Given the description of an element on the screen output the (x, y) to click on. 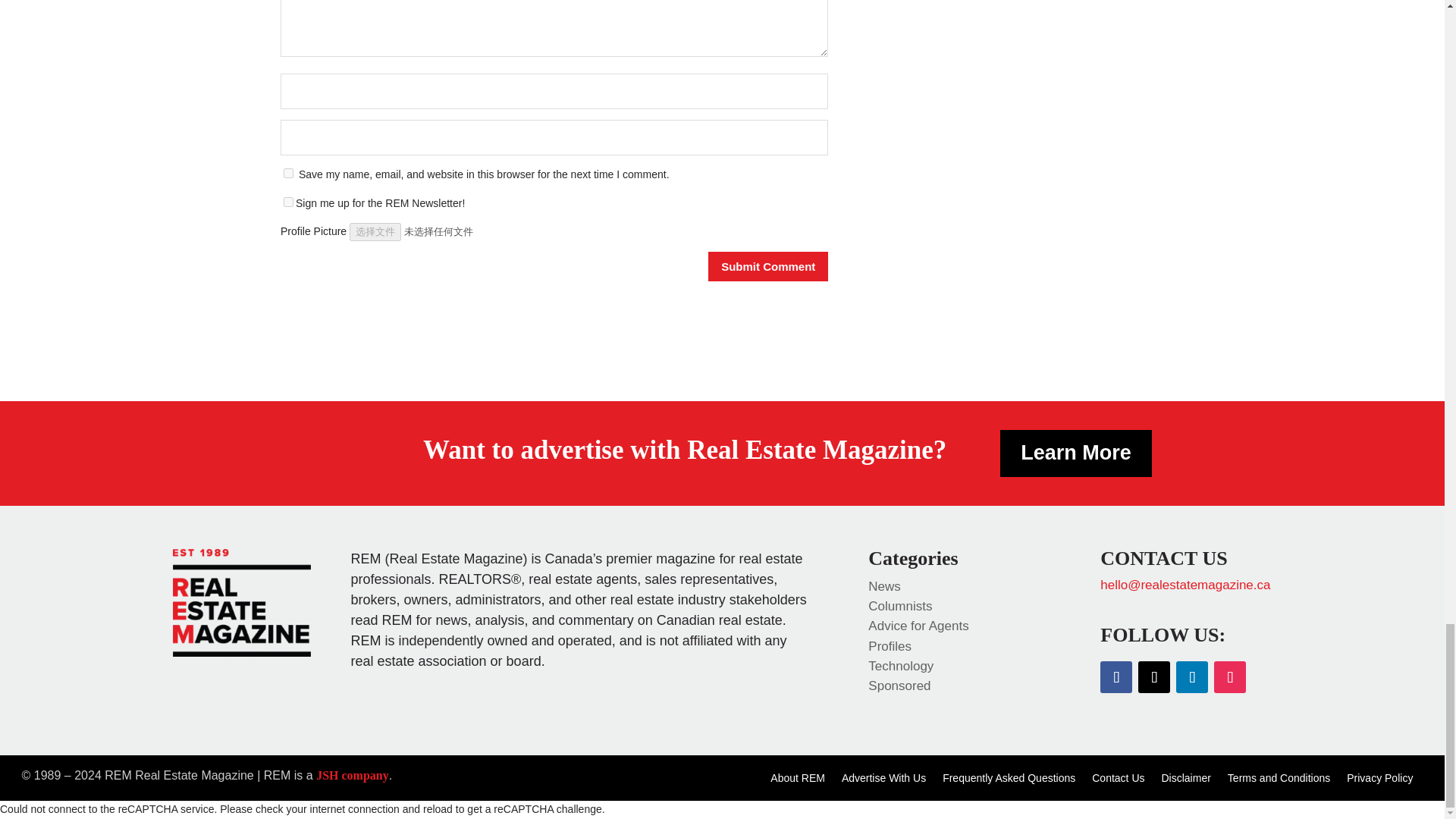
1 (288, 202)
yes (288, 173)
Submit Comment (767, 266)
